Given the description of an element on the screen output the (x, y) to click on. 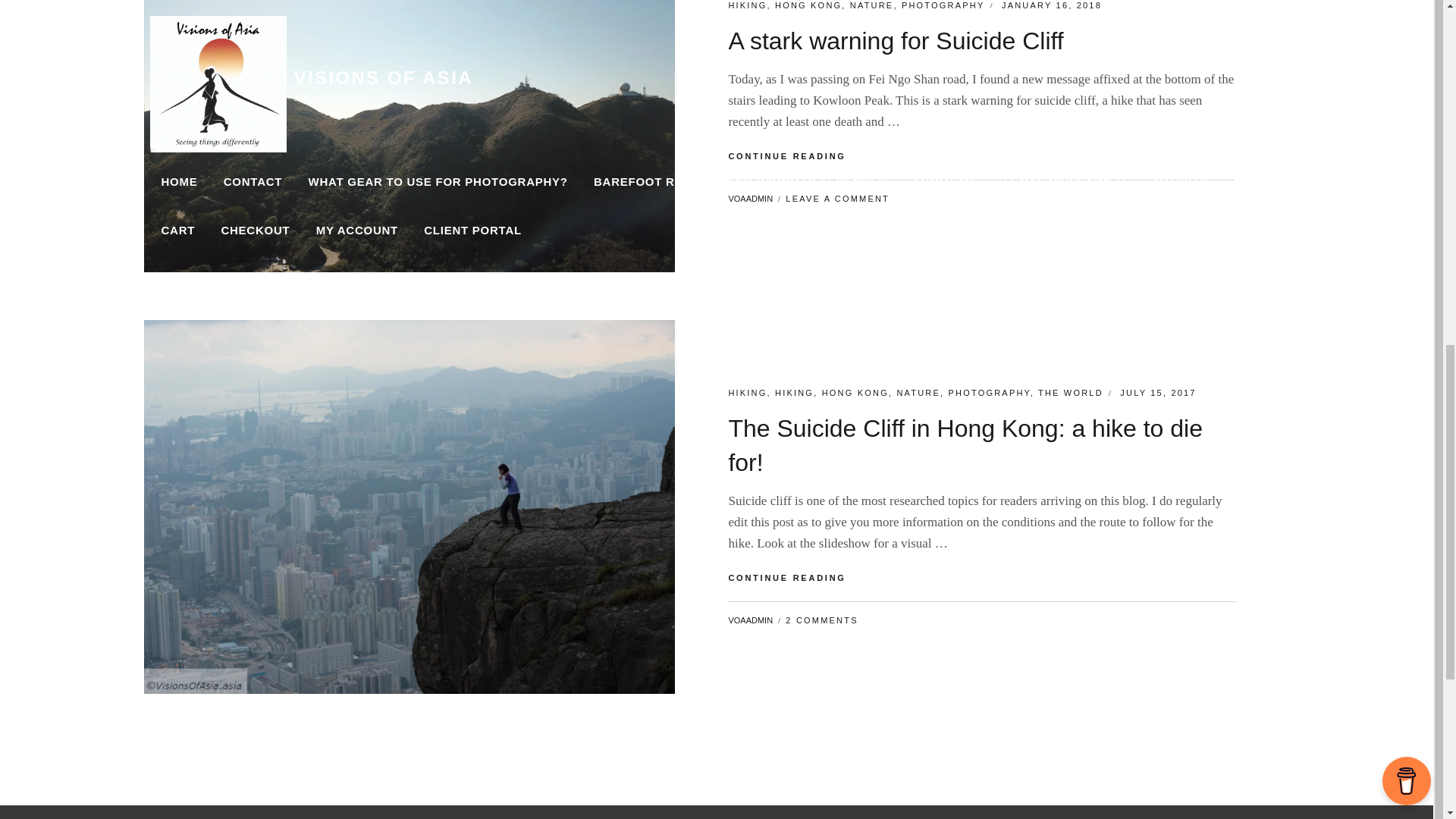
PHOTOGRAPHY (943, 4)
LEAVE A COMMENT (837, 198)
JANUARY 16, 2018 (1051, 4)
PHOTOGRAPHY (989, 392)
HIKING (793, 392)
THE WORLD (1070, 392)
HONG KONG (855, 392)
A stark warning for Suicide Cliff (982, 155)
NATURE (895, 40)
HIKING (918, 392)
HIKING (747, 4)
VOAADMIN (747, 392)
HONG KONG (750, 198)
JULY 15, 2017 (807, 4)
